Given the description of an element on the screen output the (x, y) to click on. 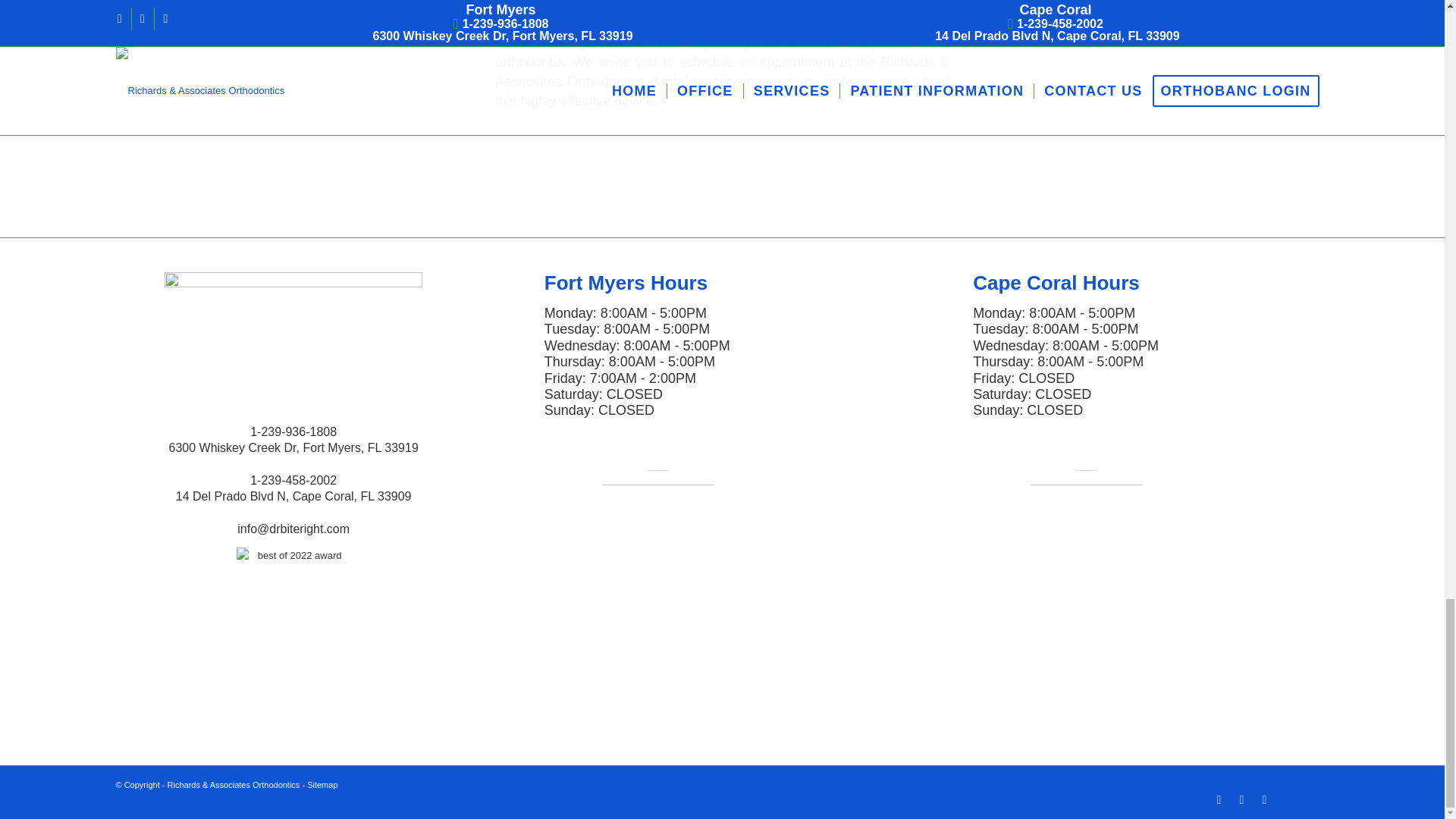
Instagram (1241, 799)
Youtube (1263, 799)
Facebook (1218, 799)
